Given the description of an element on the screen output the (x, y) to click on. 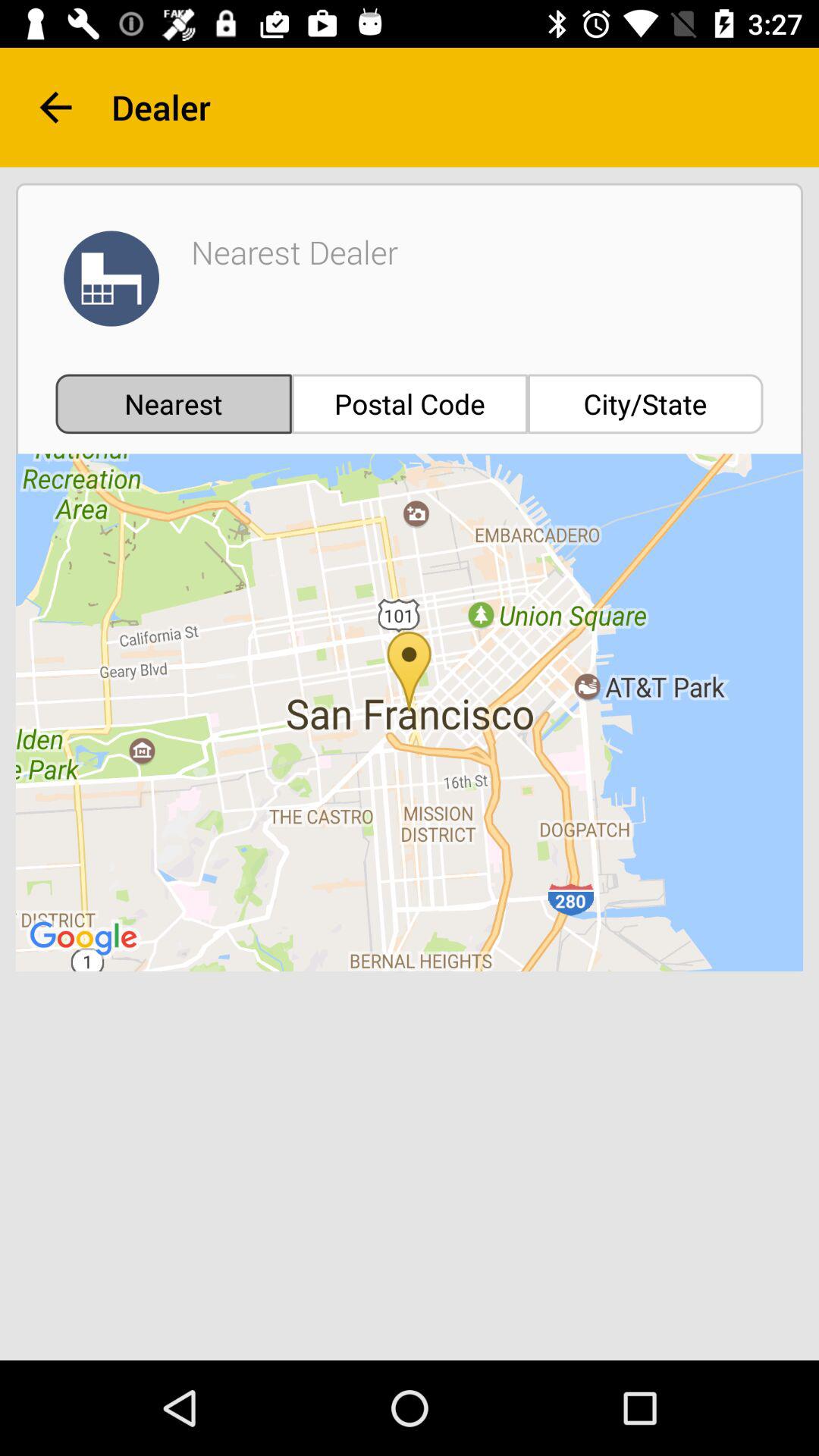
turn on the icon to the right of postal code item (645, 403)
